Given the description of an element on the screen output the (x, y) to click on. 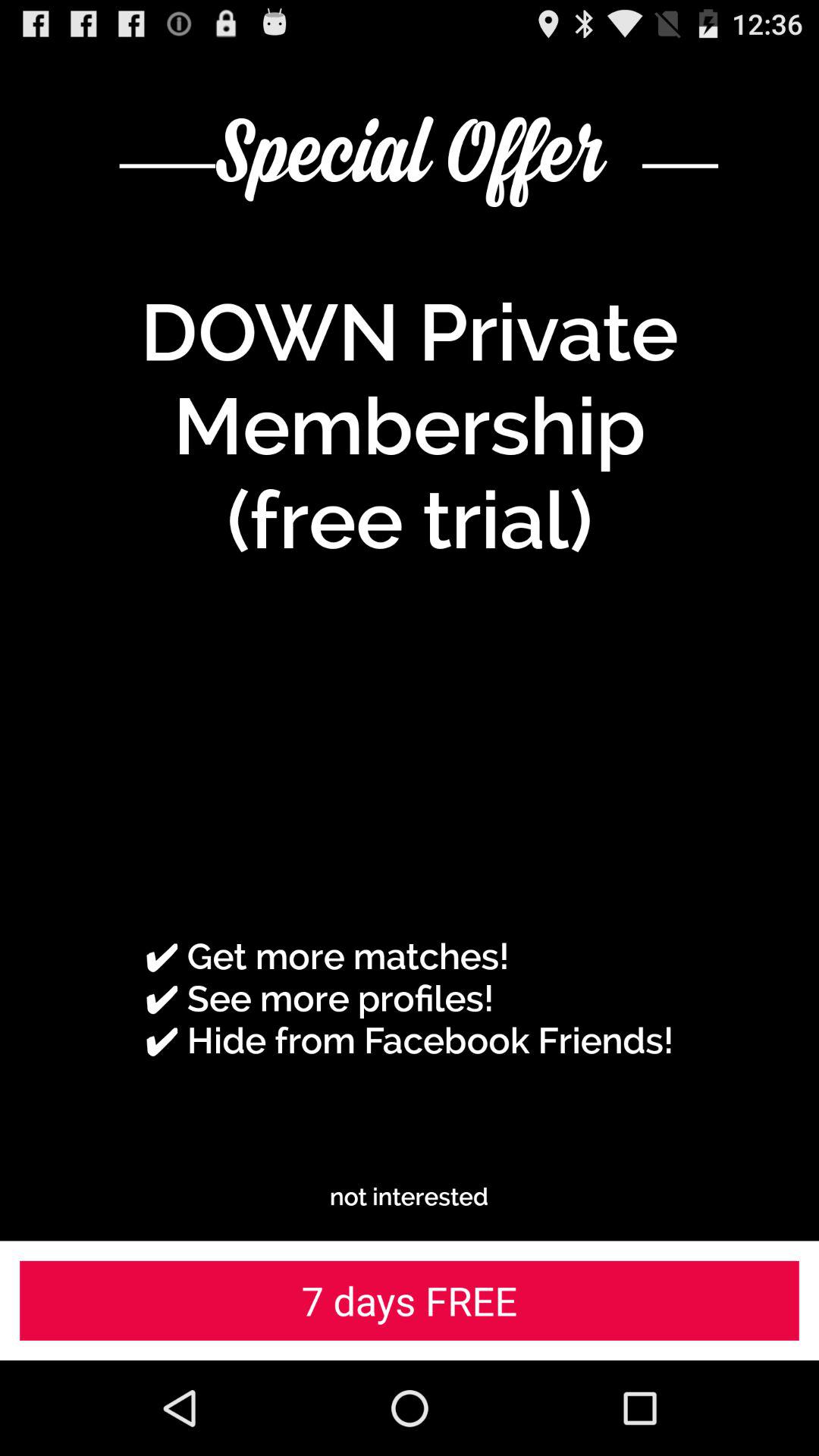
open icon below get more matches (408, 1196)
